Given the description of an element on the screen output the (x, y) to click on. 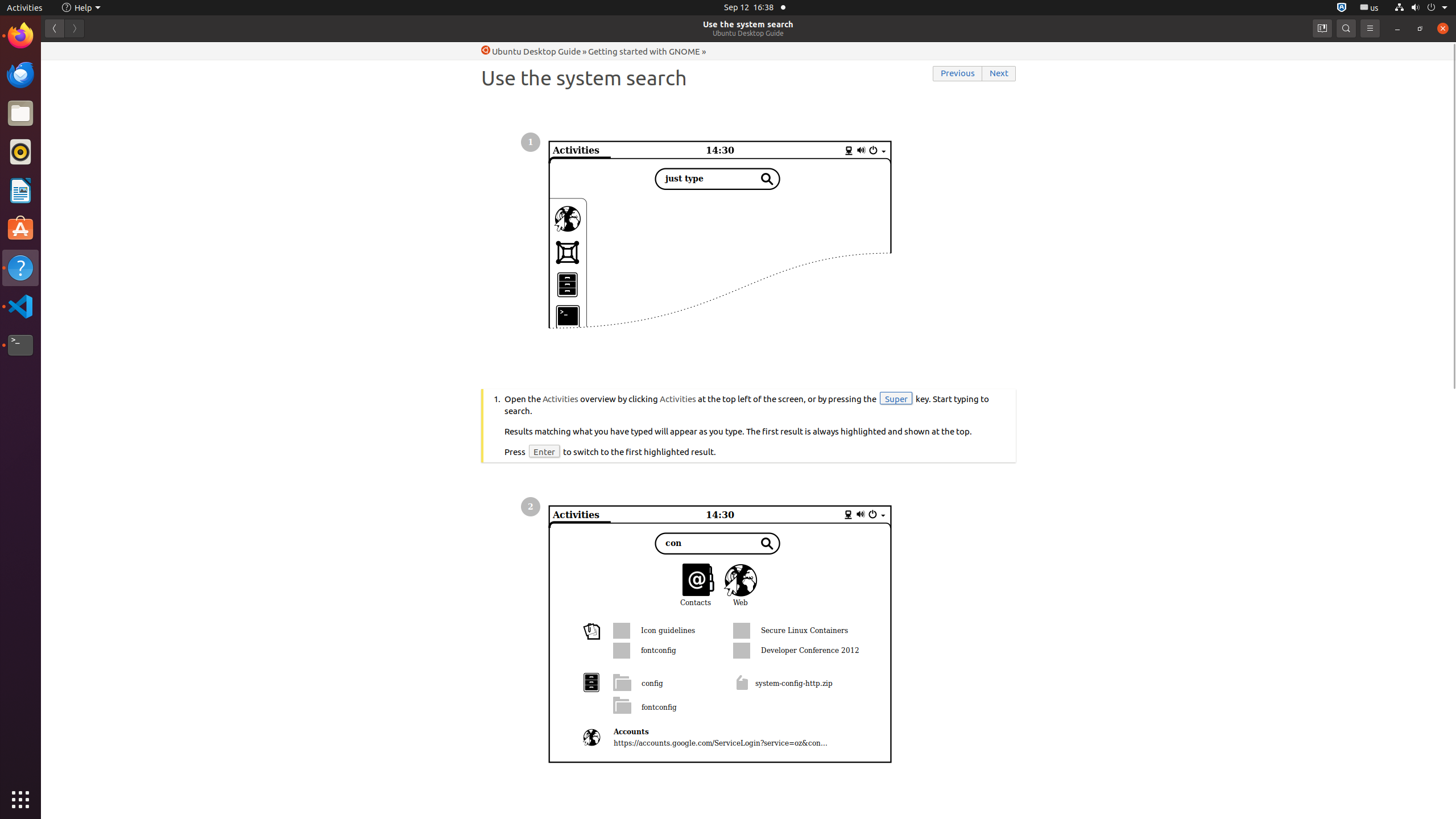
Use the system search Element type: label (748, 24)
Restore Element type: push-button (1419, 27)
Next Element type: link (999, 73)
Firefox Web Browser Element type: push-button (20, 35)
